Given the description of an element on the screen output the (x, y) to click on. 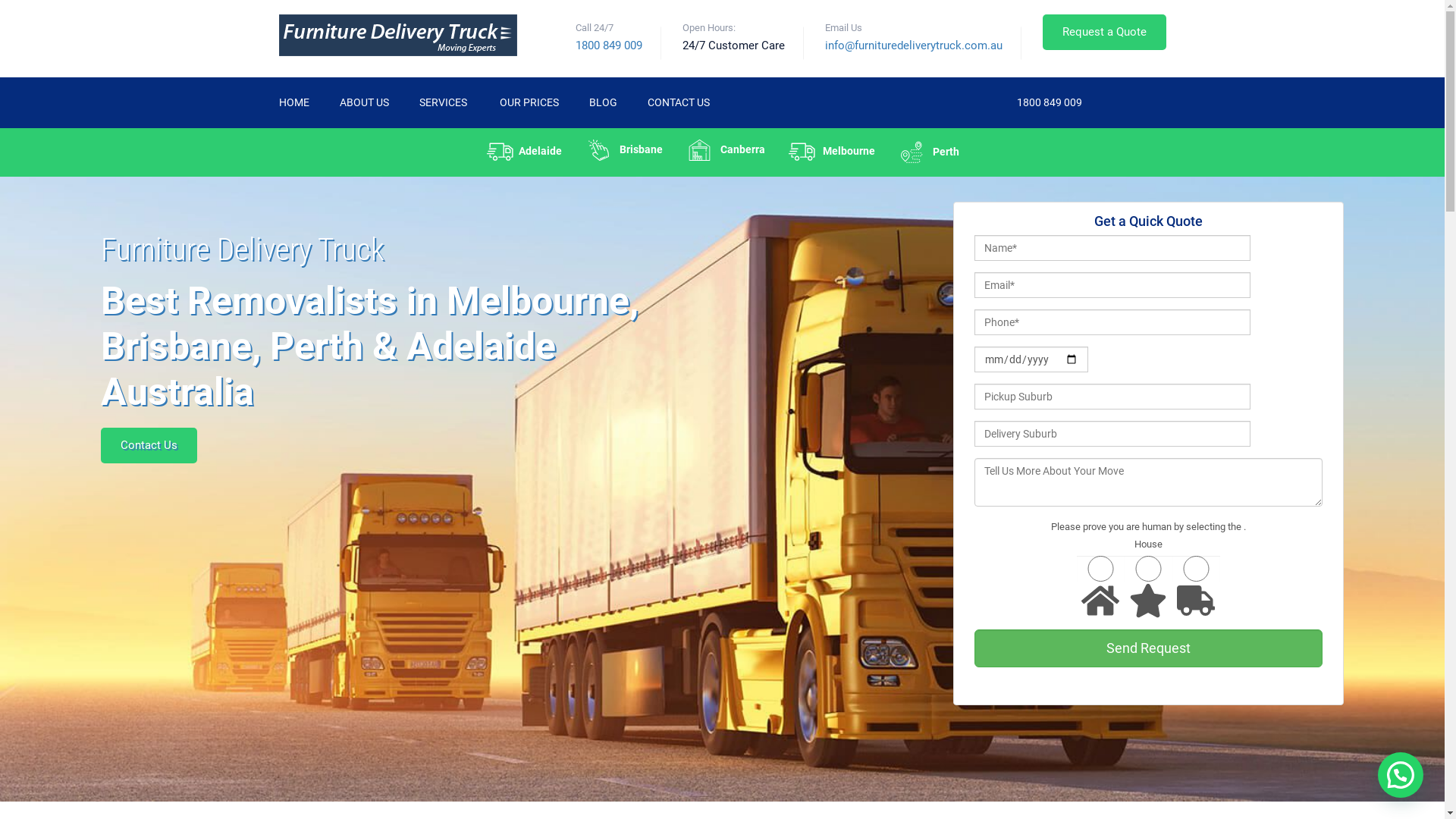
ABOUT US Element type: text (364, 102)
Brisbane Element type: text (623, 149)
Perth Element type: text (927, 151)
Melbourne Element type: text (831, 151)
HOME Element type: text (294, 102)
info@furnituredeliverytruck.com.au Element type: text (913, 45)
SERVICES Element type: text (443, 102)
Contact Us Element type: text (148, 445)
1800 849 009 Element type: text (607, 45)
CONTACT US Element type: text (678, 102)
1800 849 009 Element type: text (1048, 101)
Canberra Element type: text (724, 149)
OUR PRICES Element type: text (528, 102)
Request a Quote Element type: text (1103, 32)
BLOG Element type: text (602, 102)
Adelaide Element type: text (523, 151)
Send Request Element type: text (1147, 648)
